Given the description of an element on the screen output the (x, y) to click on. 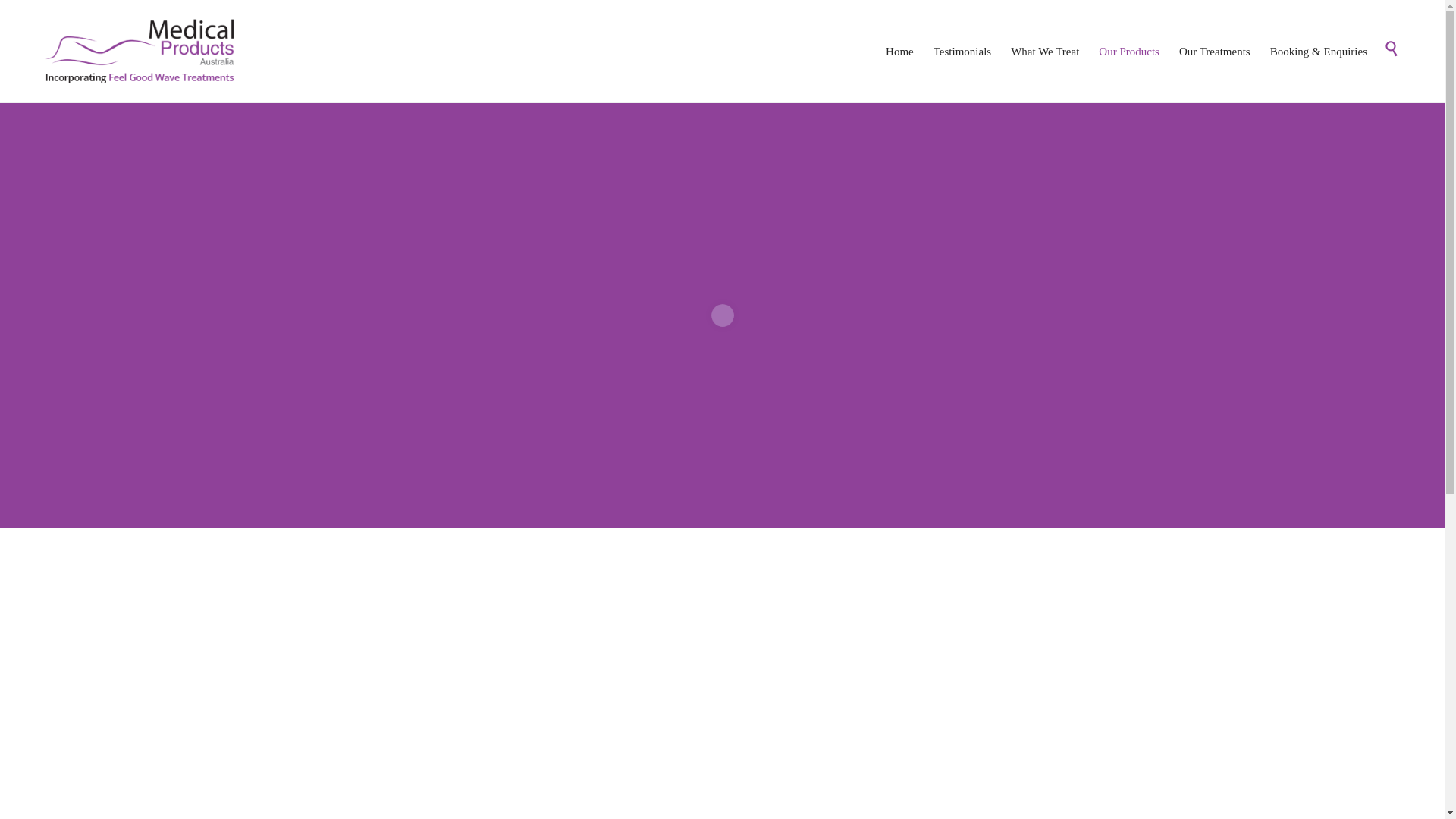
Home Element type: text (899, 51)
What We Treat Element type: text (1044, 51)
Medical Products Australia Element type: hover (139, 51)
Booking & Enquiries Element type: text (1318, 51)
Our Products Element type: text (1129, 51)
Testimonials Element type: text (961, 51)
Our Treatments Element type: text (1214, 51)
Skip to content Element type: text (1379, 34)
